Given the description of an element on the screen output the (x, y) to click on. 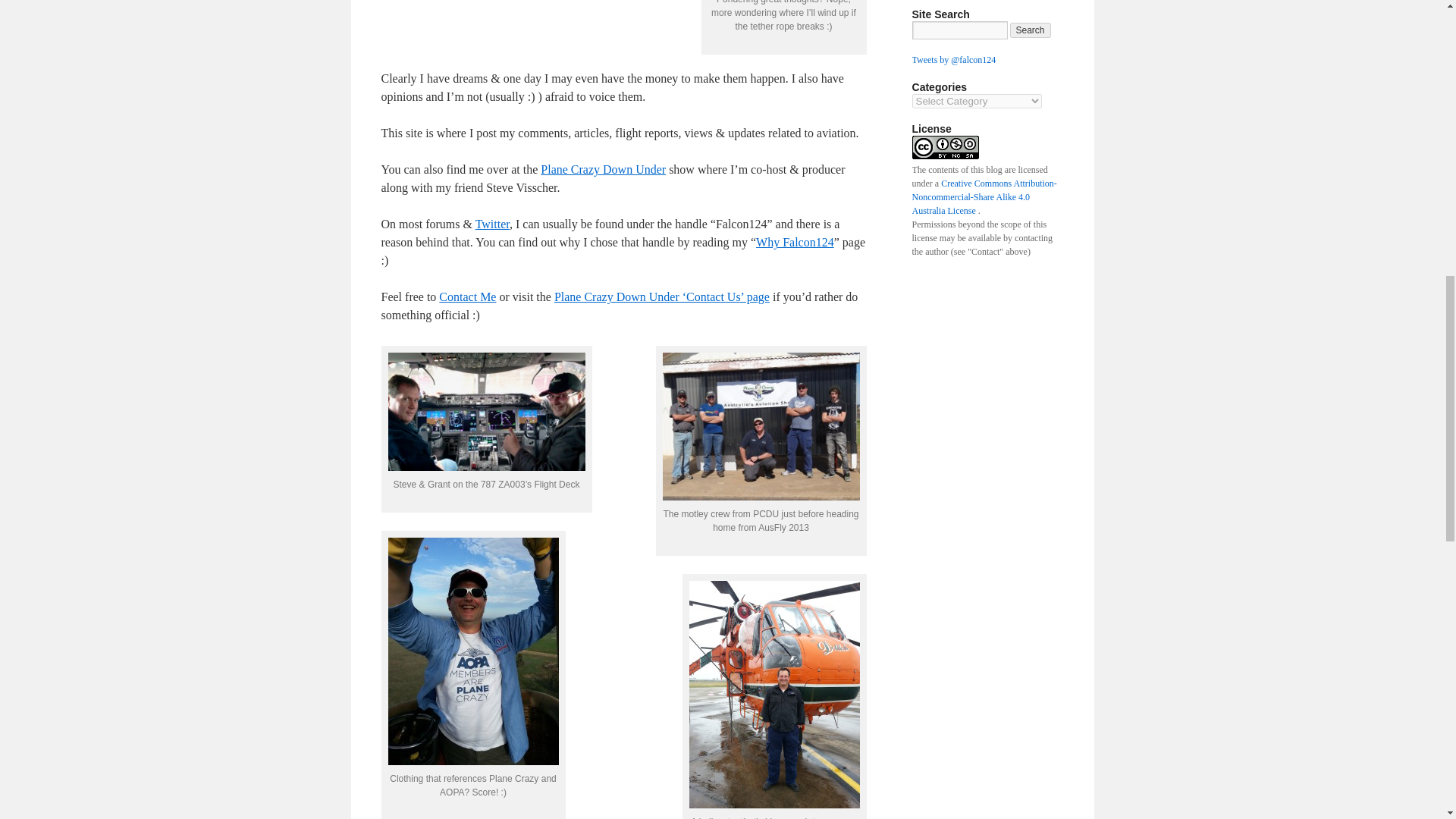
Why Falcon124 (794, 241)
My Twitter Feed (492, 223)
Contact Me (467, 296)
Plane Crazy Down Under (602, 169)
Search (1030, 29)
Twitter (492, 223)
Why did I chose Falcon124 as a handle? (794, 241)
